Given the description of an element on the screen output the (x, y) to click on. 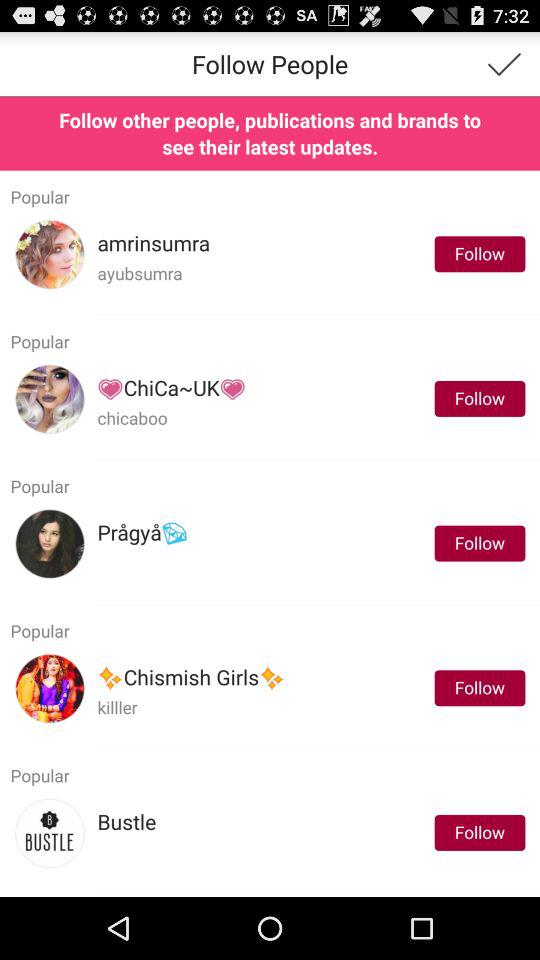
choose icon below the ayubsumra item (317, 314)
